Given the description of an element on the screen output the (x, y) to click on. 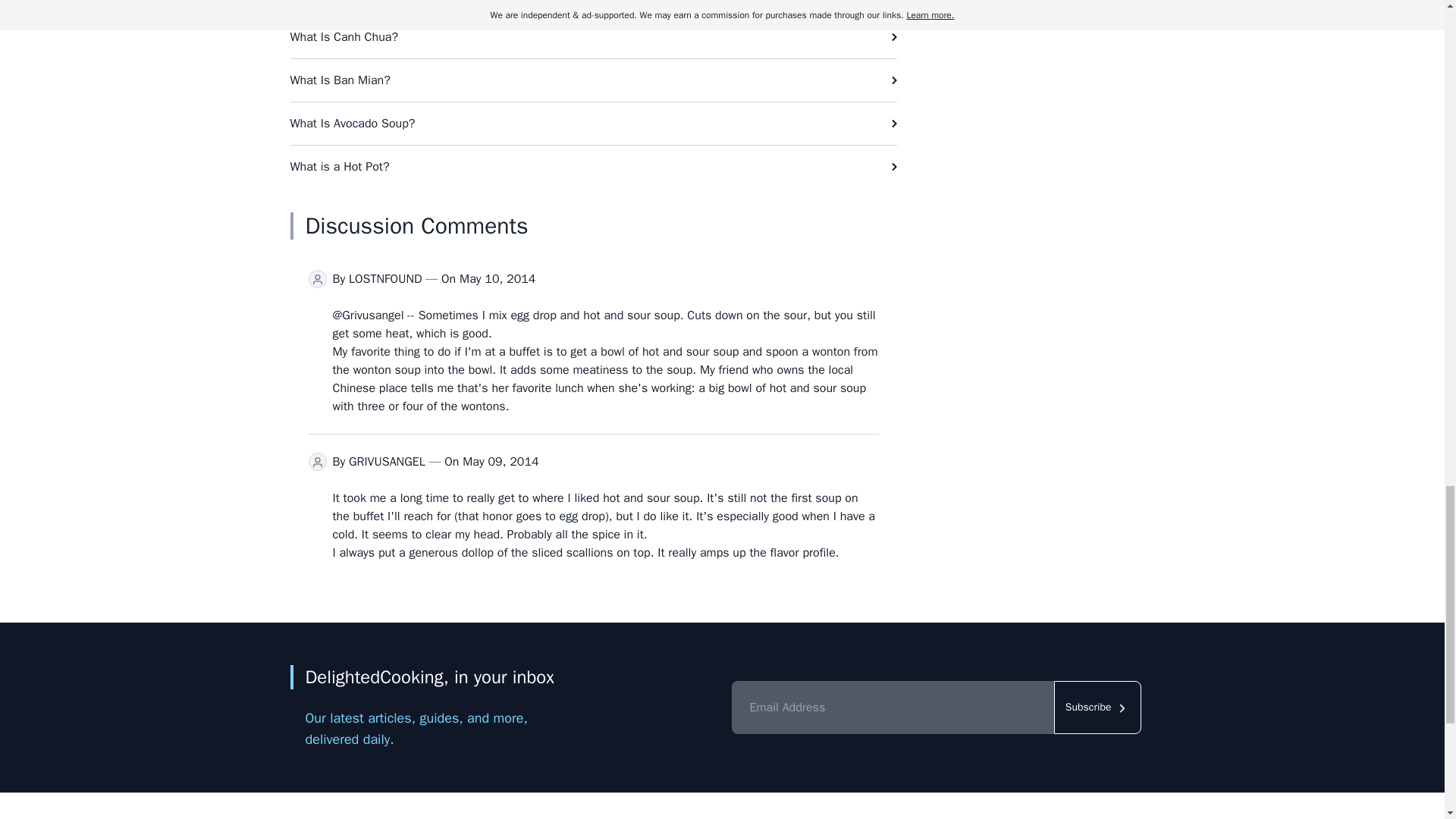
What Is Canh Chua? (592, 36)
